Given the description of an element on the screen output the (x, y) to click on. 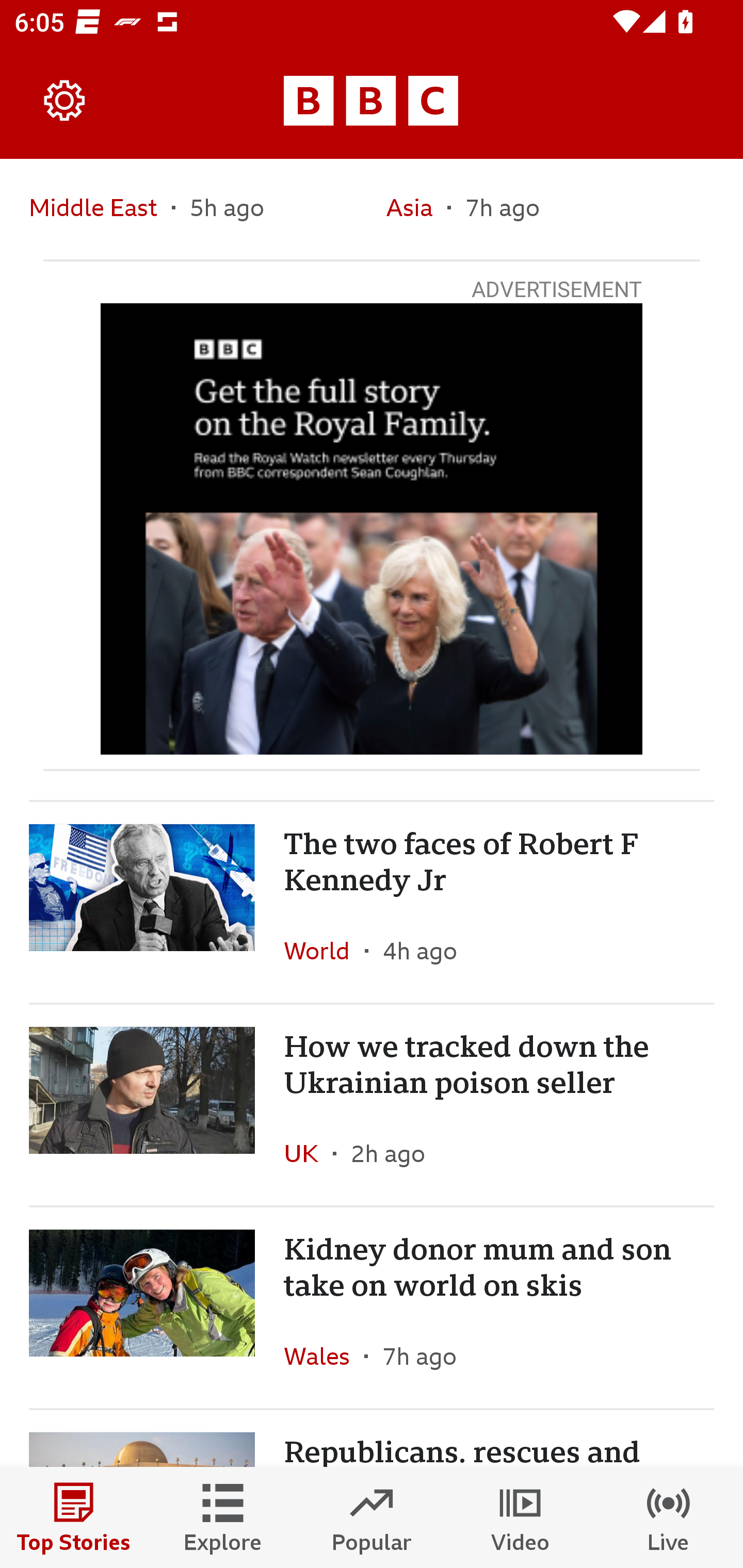
Settings (64, 100)
Asia In the section Asia 7h ago 7 Hours ago (549, 208)
World In the section World (323, 949)
UK In the section UK (307, 1152)
Wales In the section Wales (323, 1356)
Explore (222, 1517)
Popular (371, 1517)
Video (519, 1517)
Live (668, 1517)
